Given the description of an element on the screen output the (x, y) to click on. 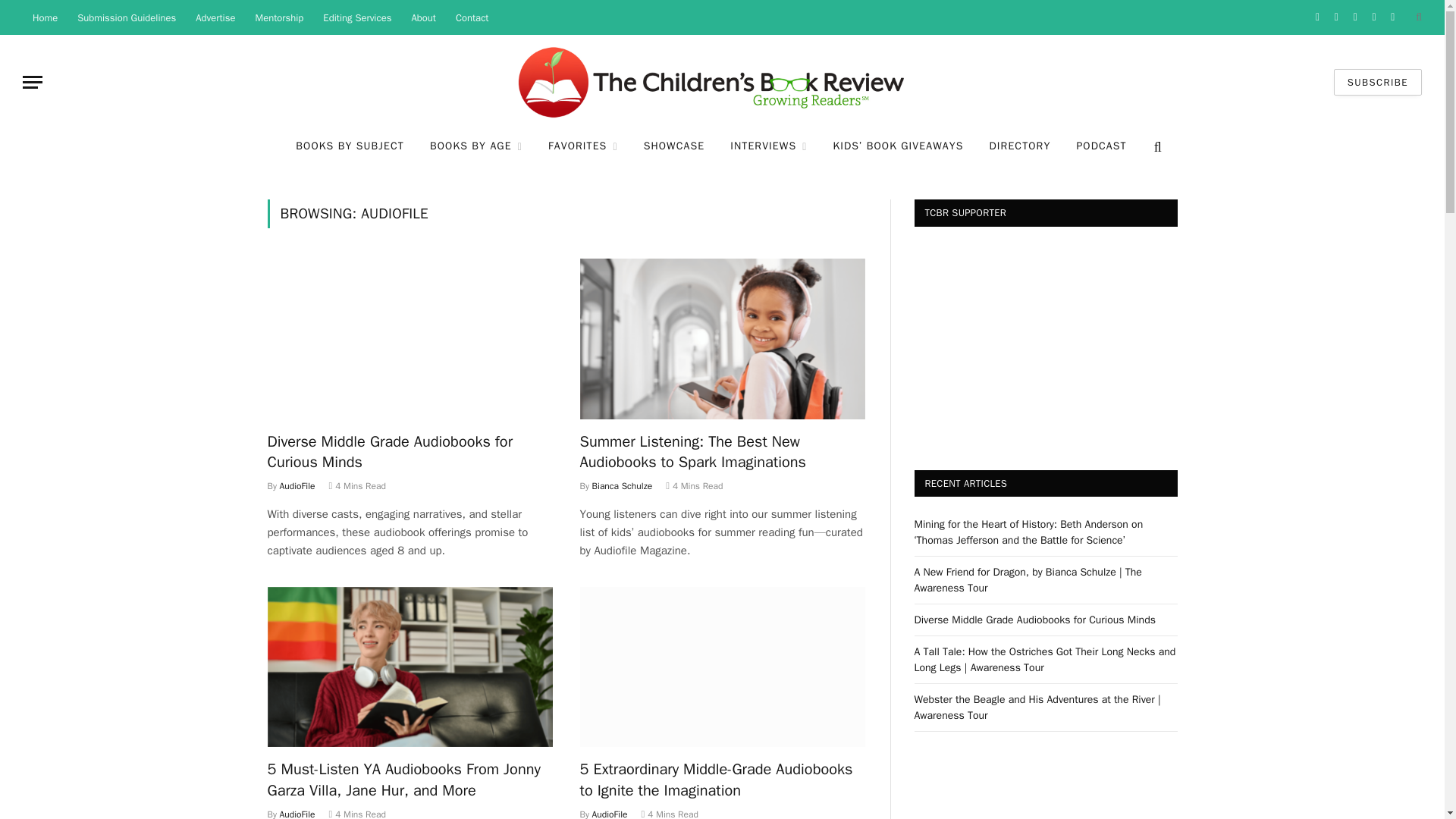
About (423, 17)
BOOKS BY SUBJECT (349, 146)
Submission Guidelines (126, 17)
BOOKS BY AGE (475, 146)
Mentorship (280, 17)
Editing Services (357, 17)
Posts by AudioFile (609, 813)
